Given the description of an element on the screen output the (x, y) to click on. 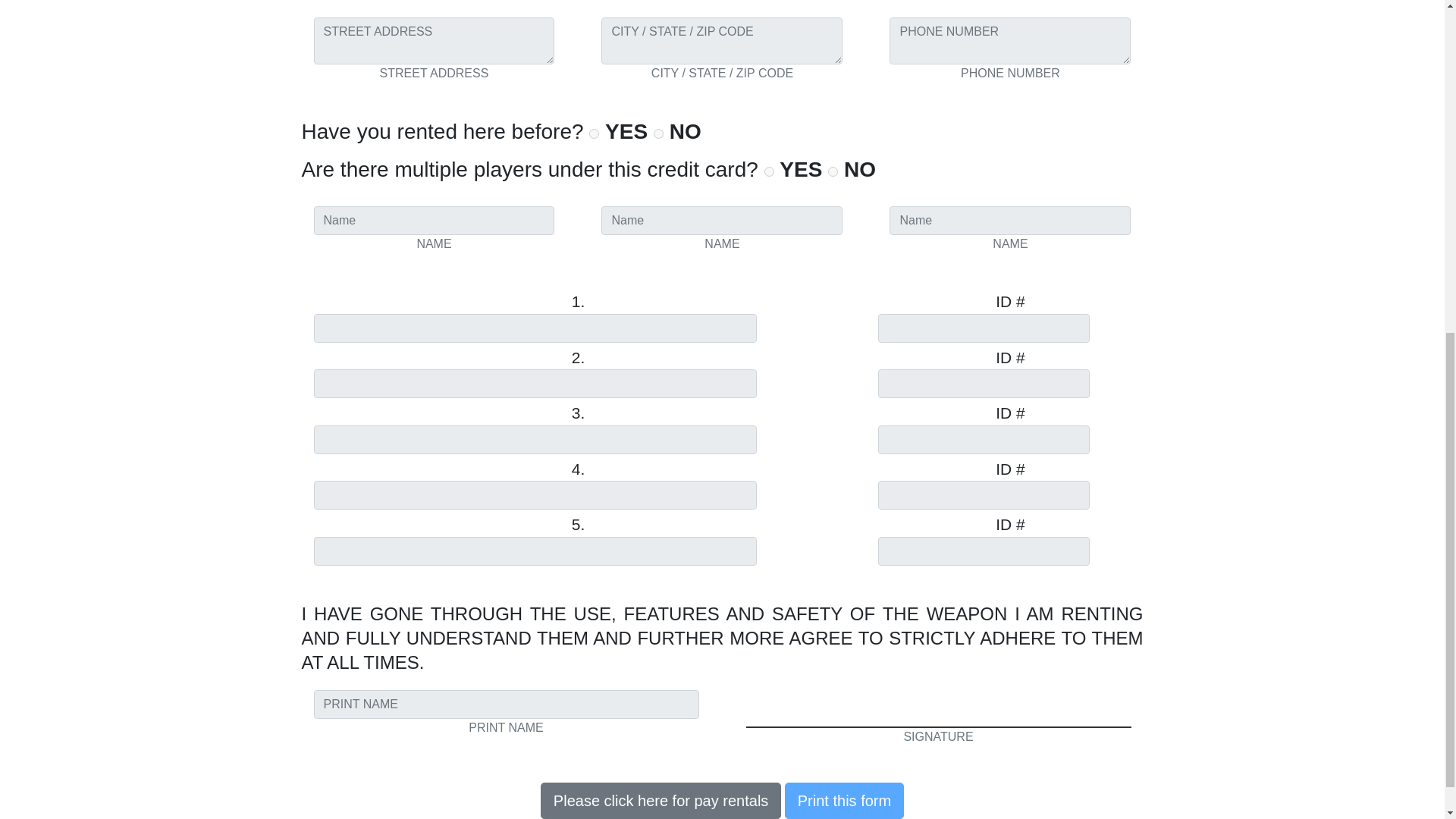
YES (593, 133)
YES (769, 171)
NO (833, 171)
NO (658, 133)
